Given the description of an element on the screen output the (x, y) to click on. 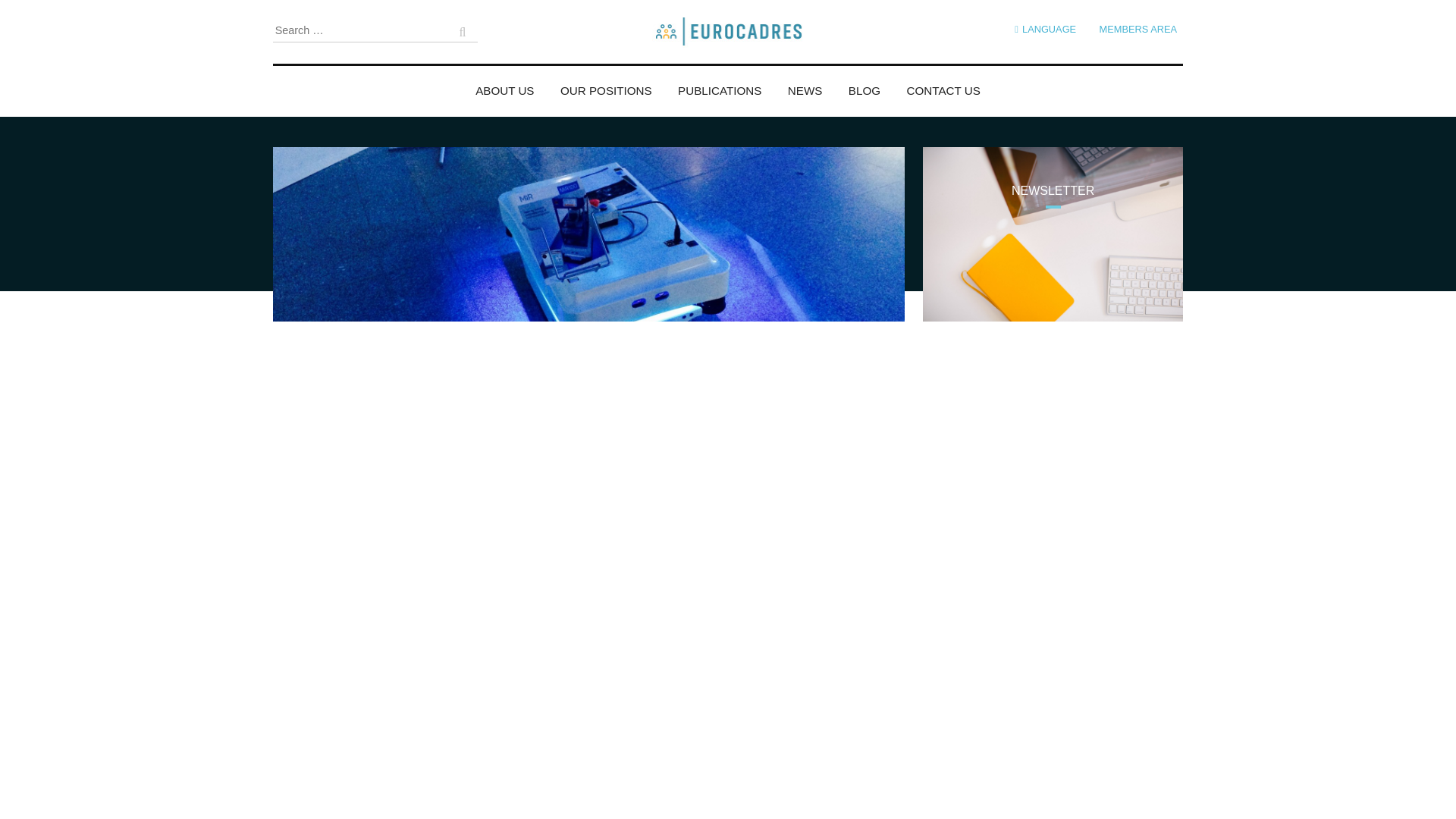
Search for: (375, 29)
MEMBERS AREA (1137, 29)
NEWS (804, 84)
ABOUT US (505, 84)
LANGUAGE (1044, 29)
CONTACT US (943, 84)
OUR POSITIONS (606, 84)
PUBLICATIONS (719, 84)
